Given the description of an element on the screen output the (x, y) to click on. 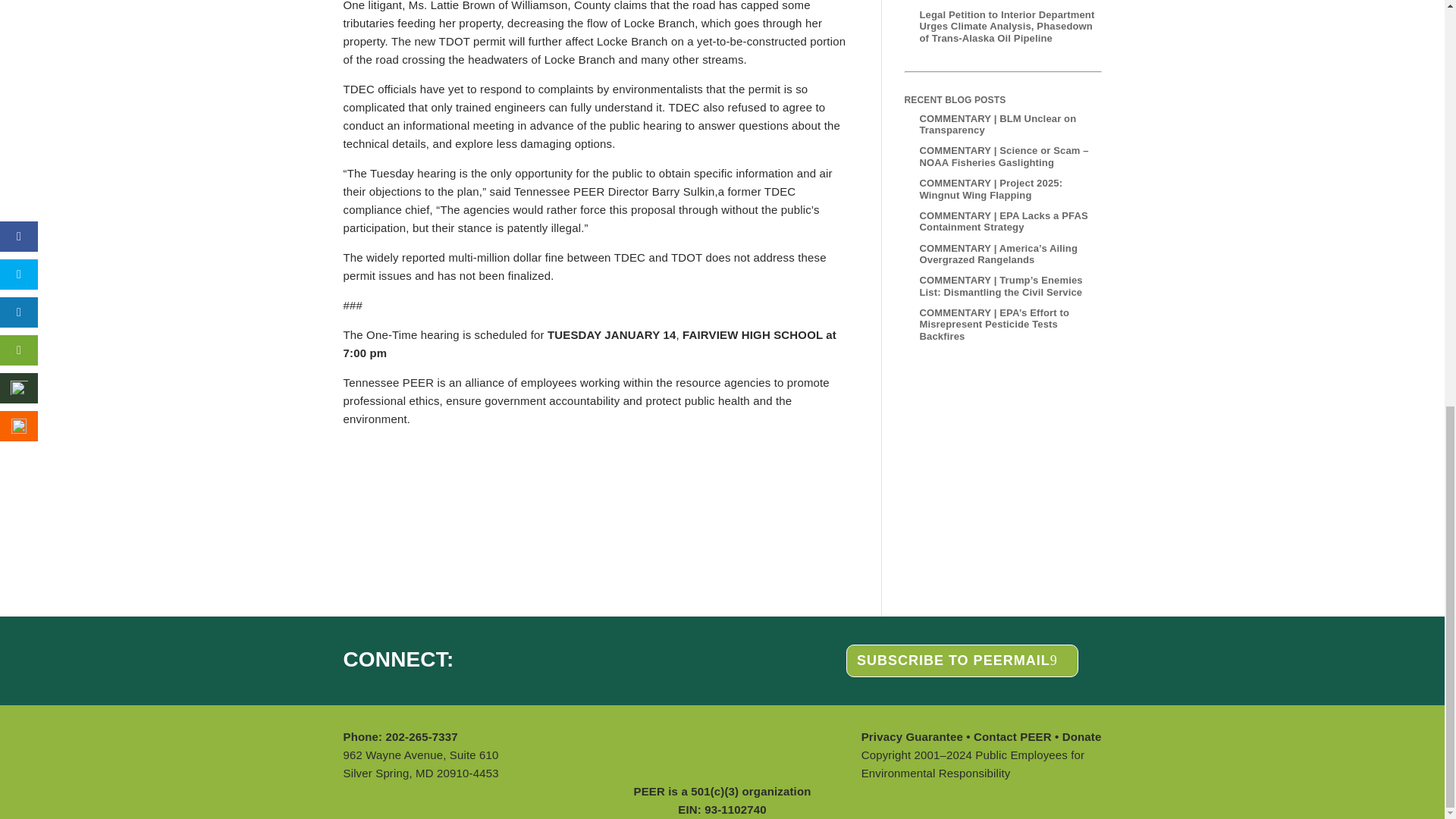
yt-icon-white (571, 658)
rssfeed (614, 658)
Instagram (484, 657)
linkedin-white (513, 657)
x-logo-20 (541, 658)
